Given the description of an element on the screen output the (x, y) to click on. 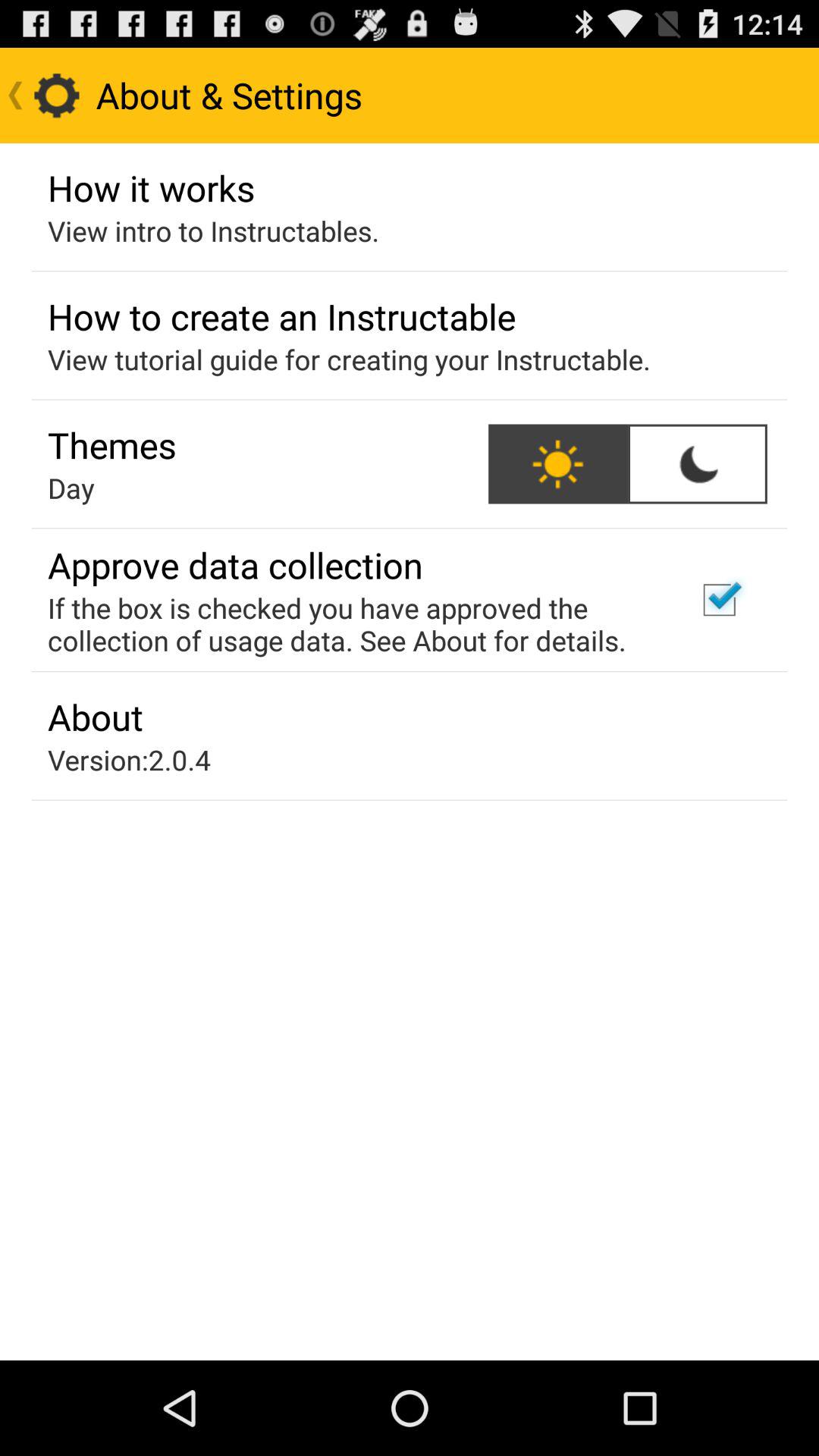
launch the icon below the how it works app (213, 230)
